Given the description of an element on the screen output the (x, y) to click on. 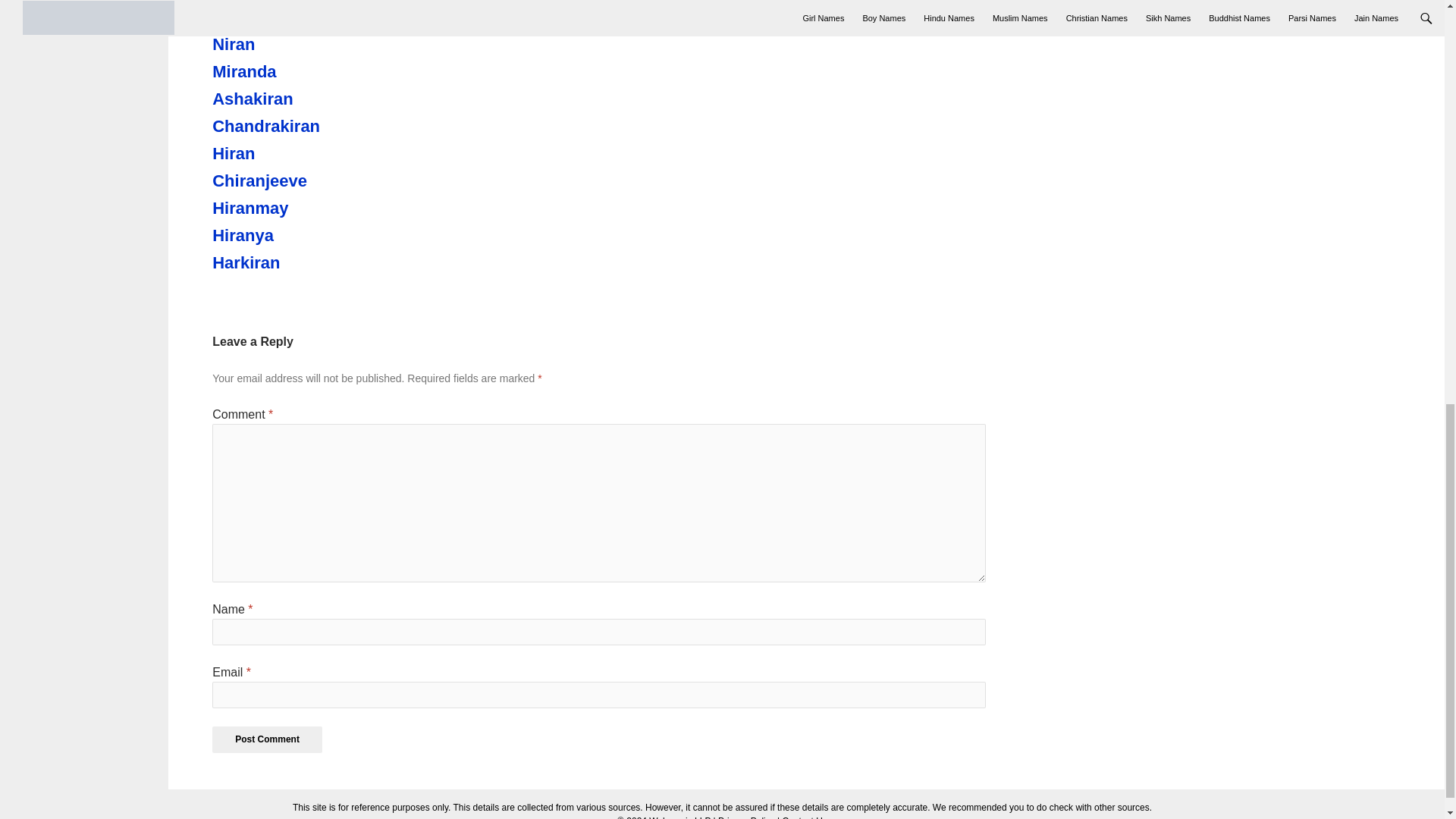
Siran (295, 17)
Harkiran (295, 262)
Post Comment (266, 739)
Chiranjeeve (295, 180)
Post Comment (266, 739)
Niran (295, 45)
Hiran (295, 153)
Ashakiran (295, 99)
Miranda (295, 72)
Hiranmay (295, 208)
Chandrakiran (295, 126)
Hiranya (295, 235)
